Given the description of an element on the screen output the (x, y) to click on. 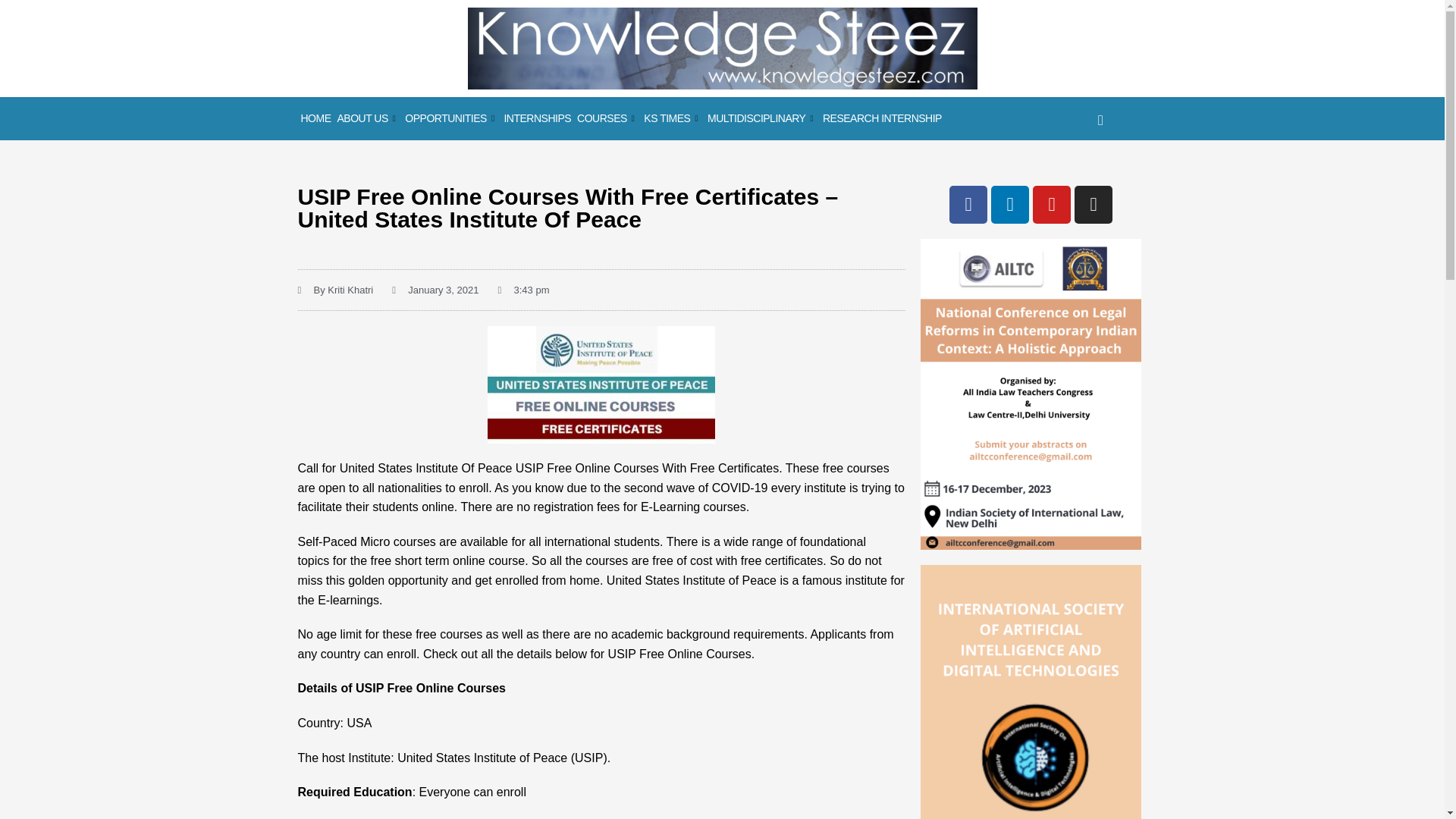
By Kriti Khatri (334, 289)
INTERNSHIPS (536, 118)
OPPORTUNITIES (450, 118)
ABOUT US (367, 118)
KS TIMES (672, 118)
January 3, 2021 (435, 289)
COURSES (606, 118)
HOME (315, 118)
RESEARCH INTERNSHIP (881, 118)
MULTIDISCIPLINARY (761, 118)
